Given the description of an element on the screen output the (x, y) to click on. 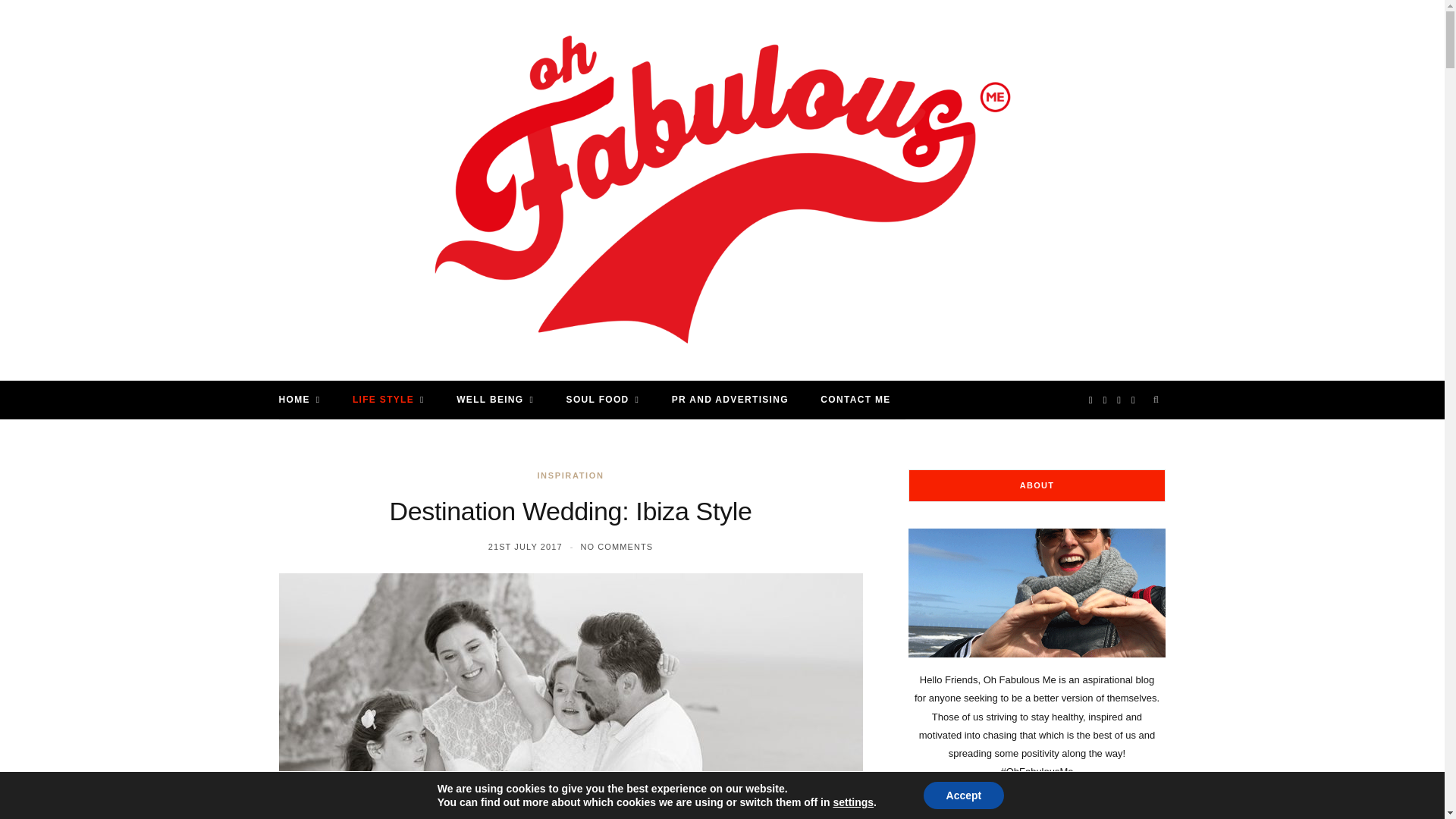
LIFE STYLE (388, 399)
HOME (298, 399)
